Given the description of an element on the screen output the (x, y) to click on. 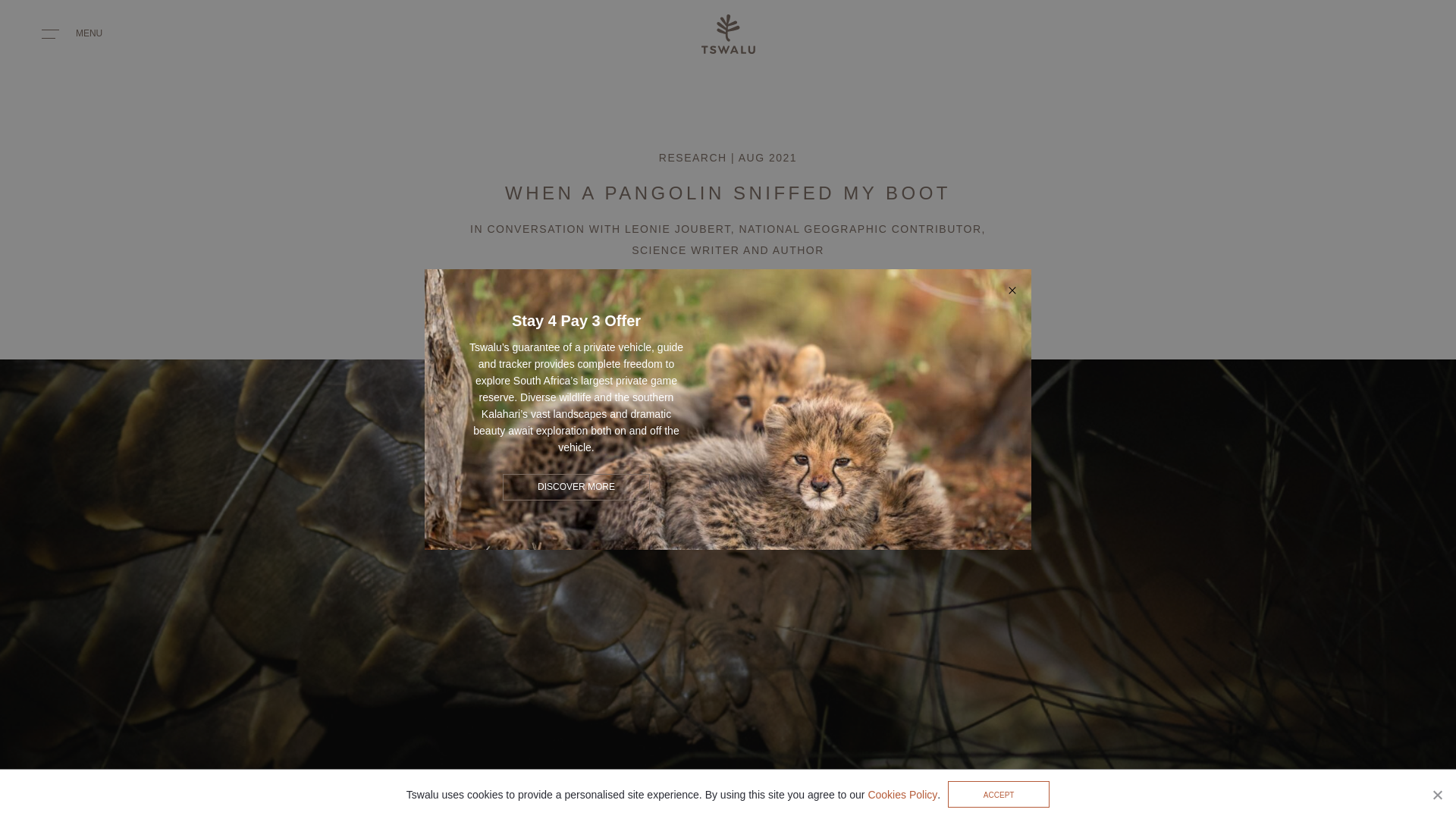
DISCOVER MORE (575, 487)
COMMUNITY (489, 803)
No (1436, 794)
